Given the description of an element on the screen output the (x, y) to click on. 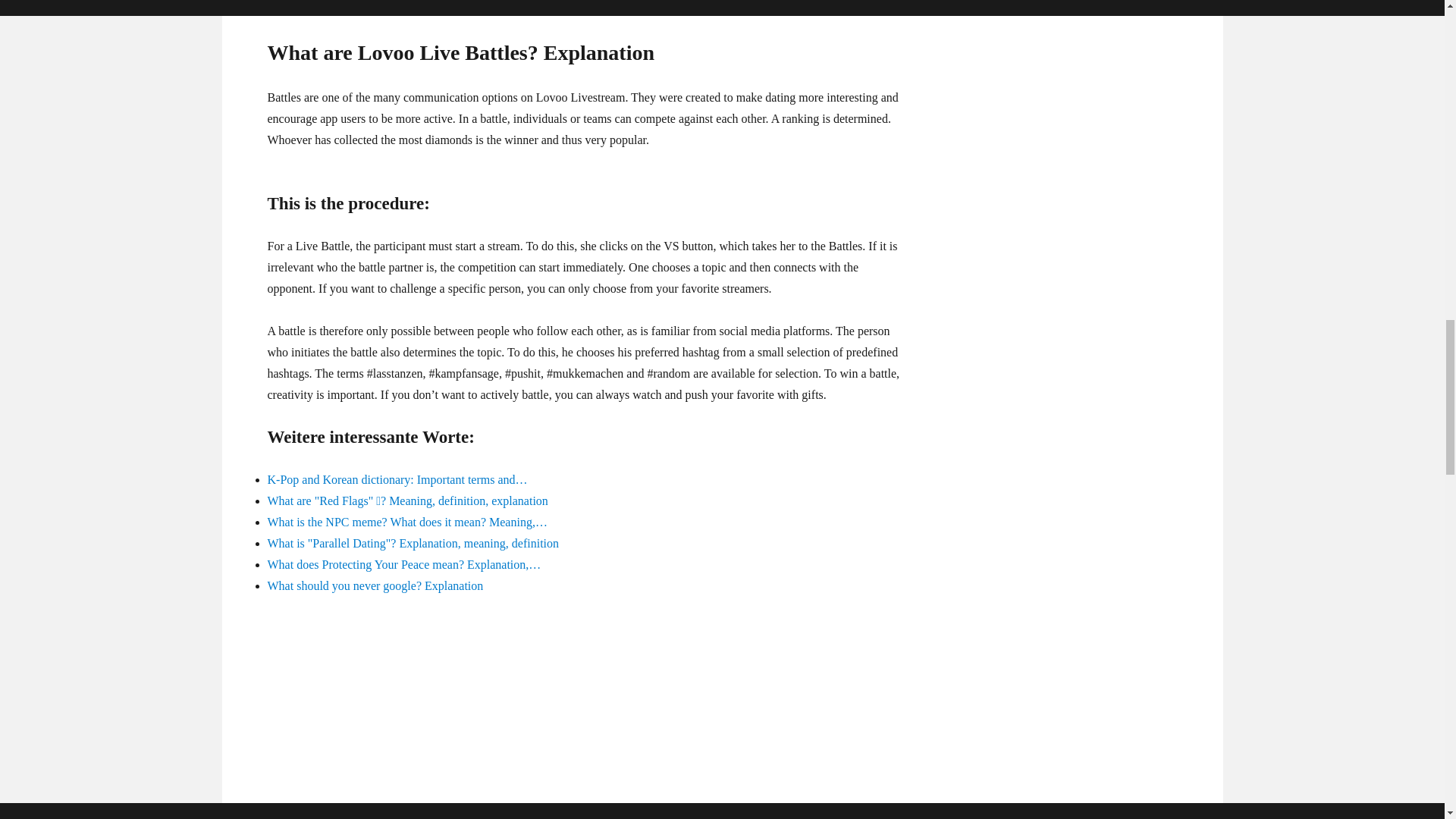
What is "Parallel Dating"? Explanation, meaning, definition (412, 543)
What should you never google? Explanation (374, 585)
